Given the description of an element on the screen output the (x, y) to click on. 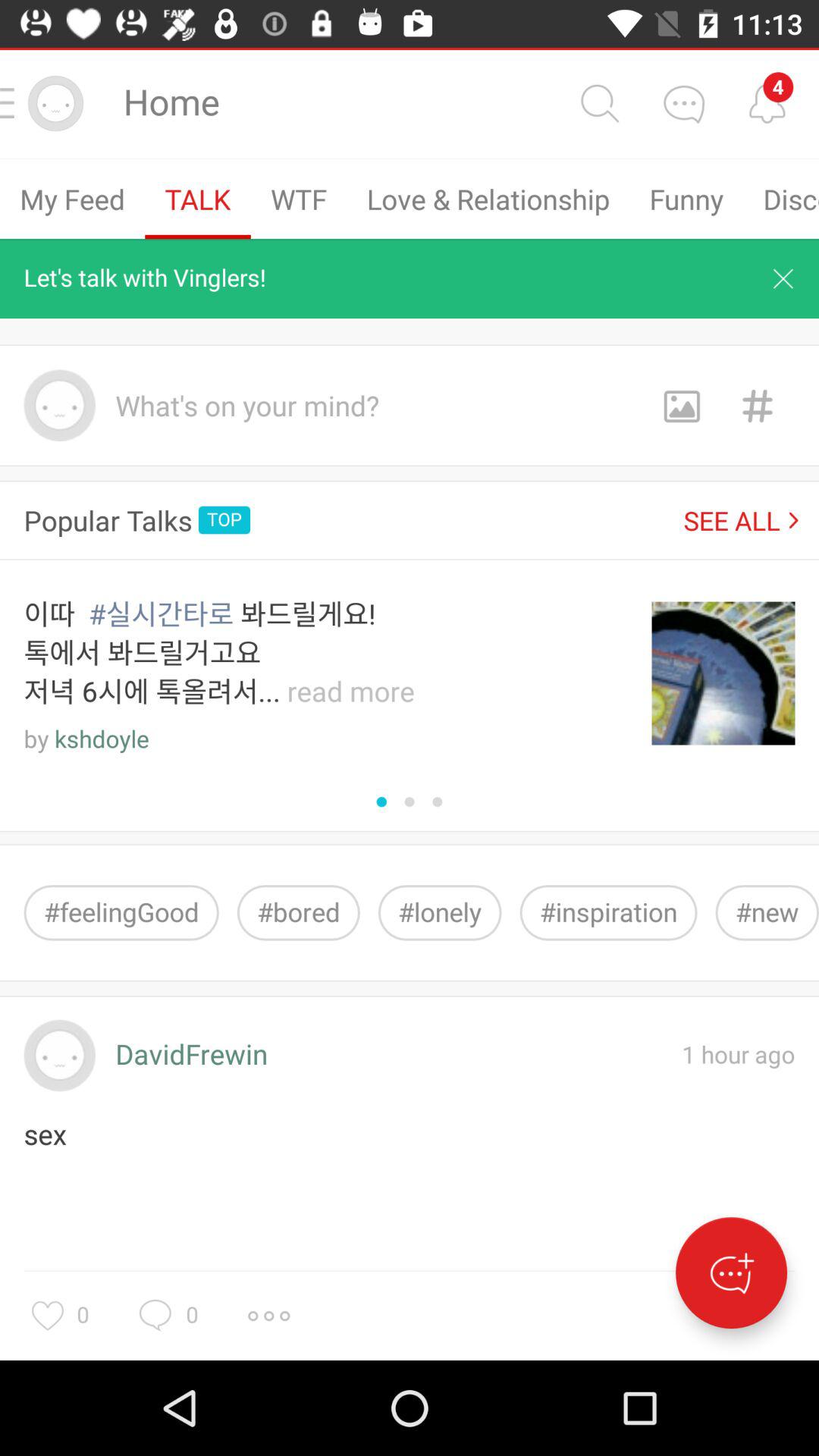
select icon to the left of the #new icon (608, 912)
